Given the description of an element on the screen output the (x, y) to click on. 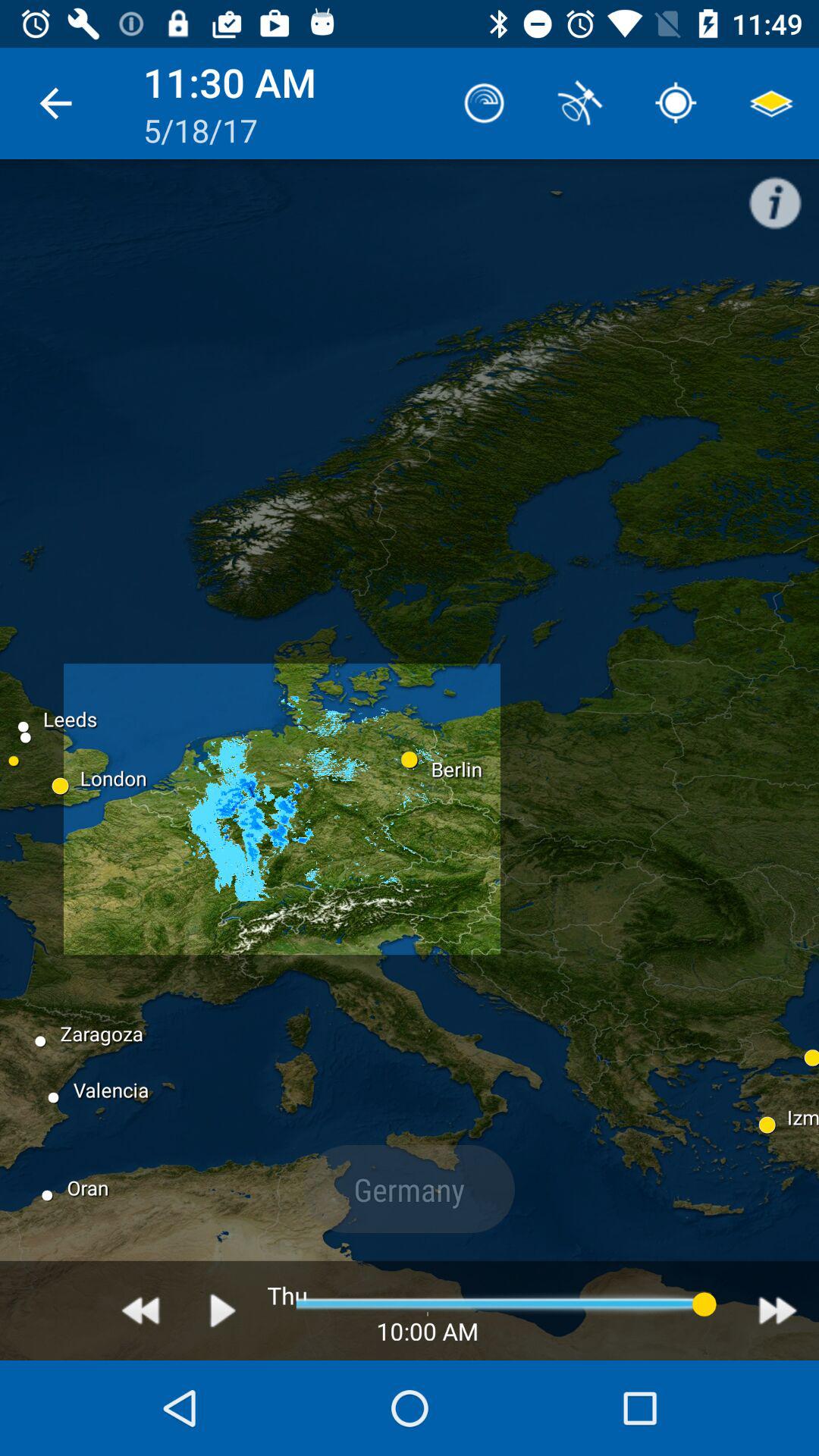
click icon next to 11:30 am item (484, 103)
